Given the description of an element on the screen output the (x, y) to click on. 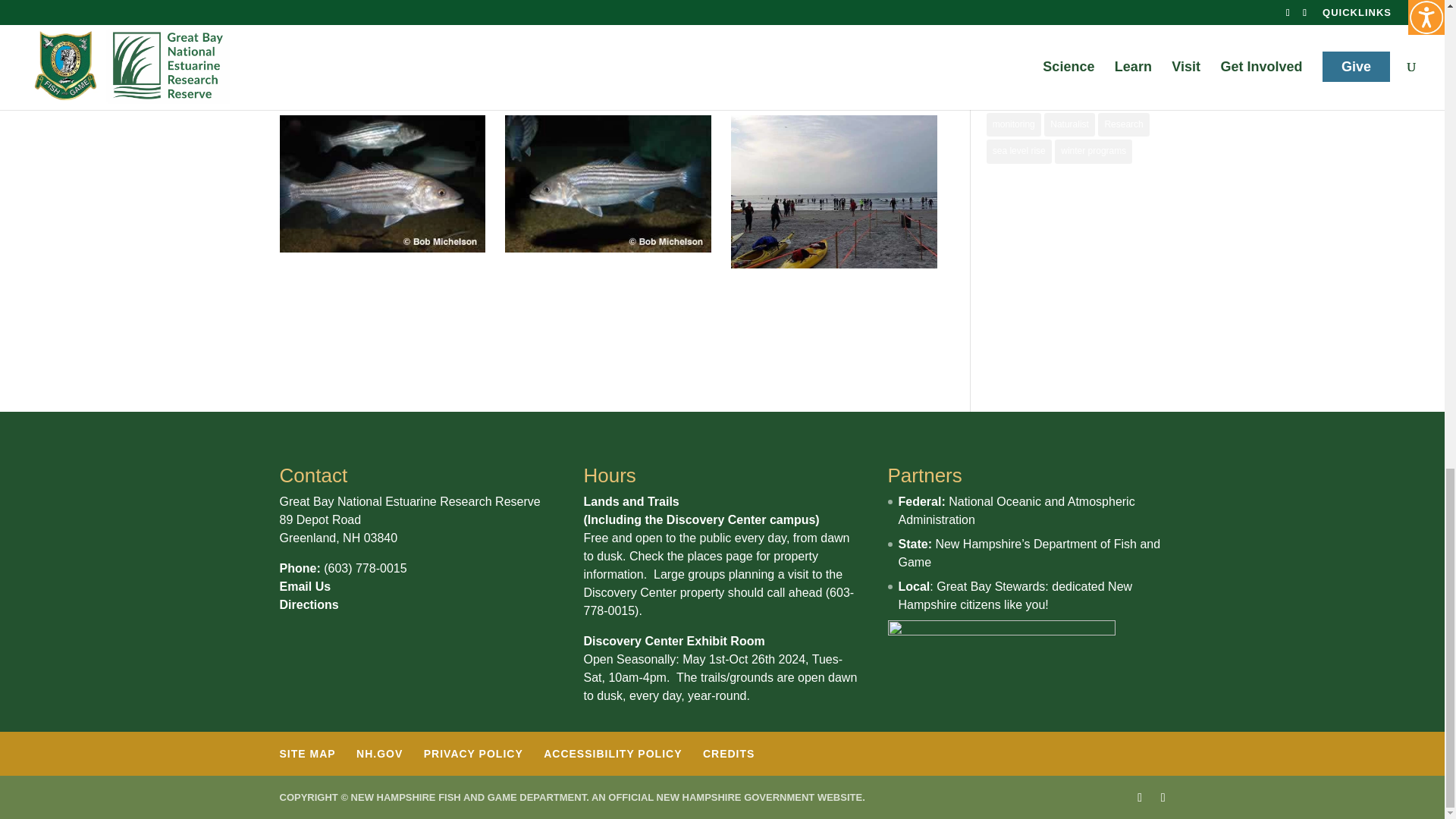
striper blog sporting (833, 191)
